Given the description of an element on the screen output the (x, y) to click on. 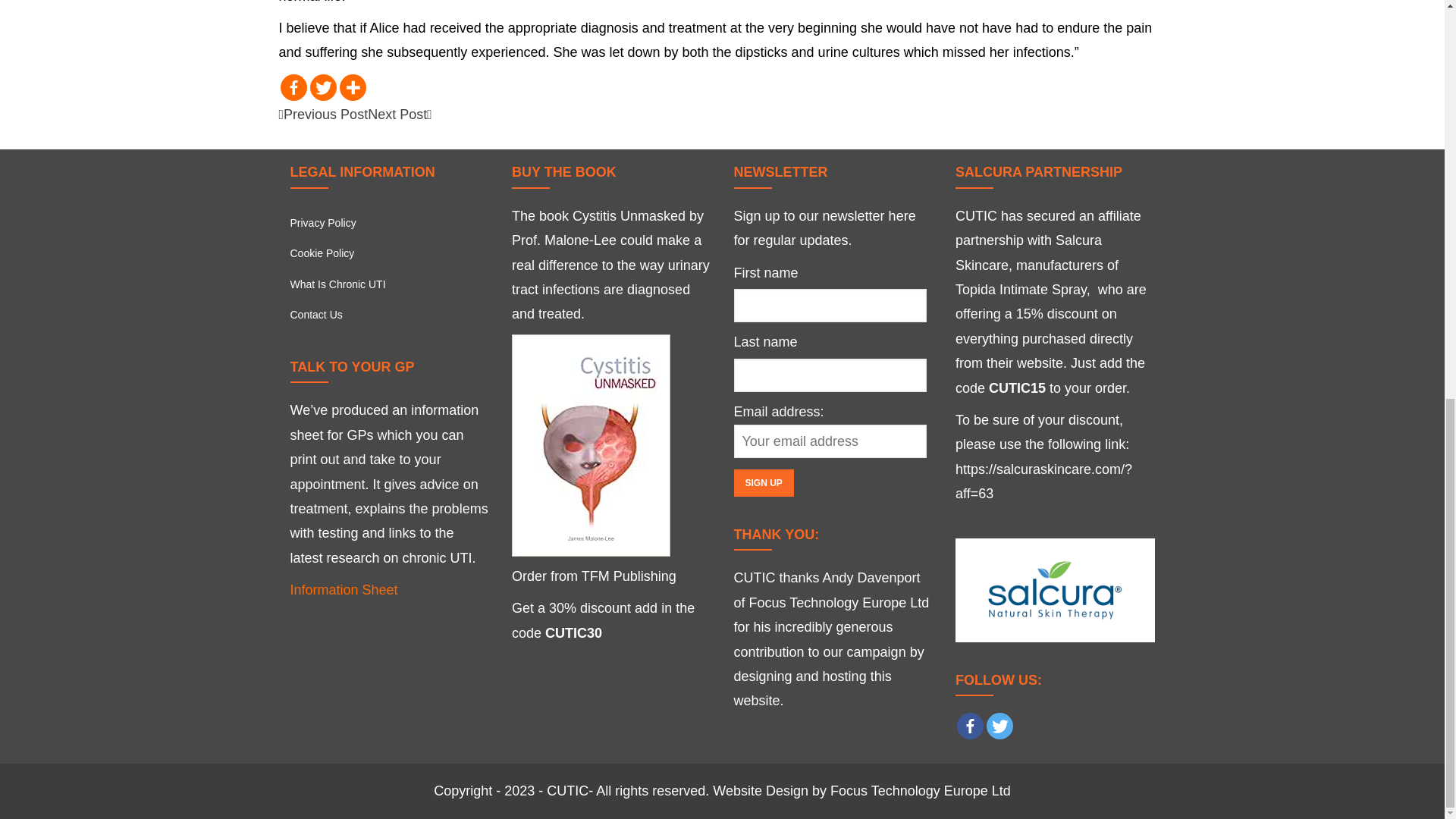
Facebook (970, 725)
More (352, 87)
Facebook (294, 87)
Twitter (1000, 725)
Sign up (763, 482)
Twitter (322, 87)
